Given the description of an element on the screen output the (x, y) to click on. 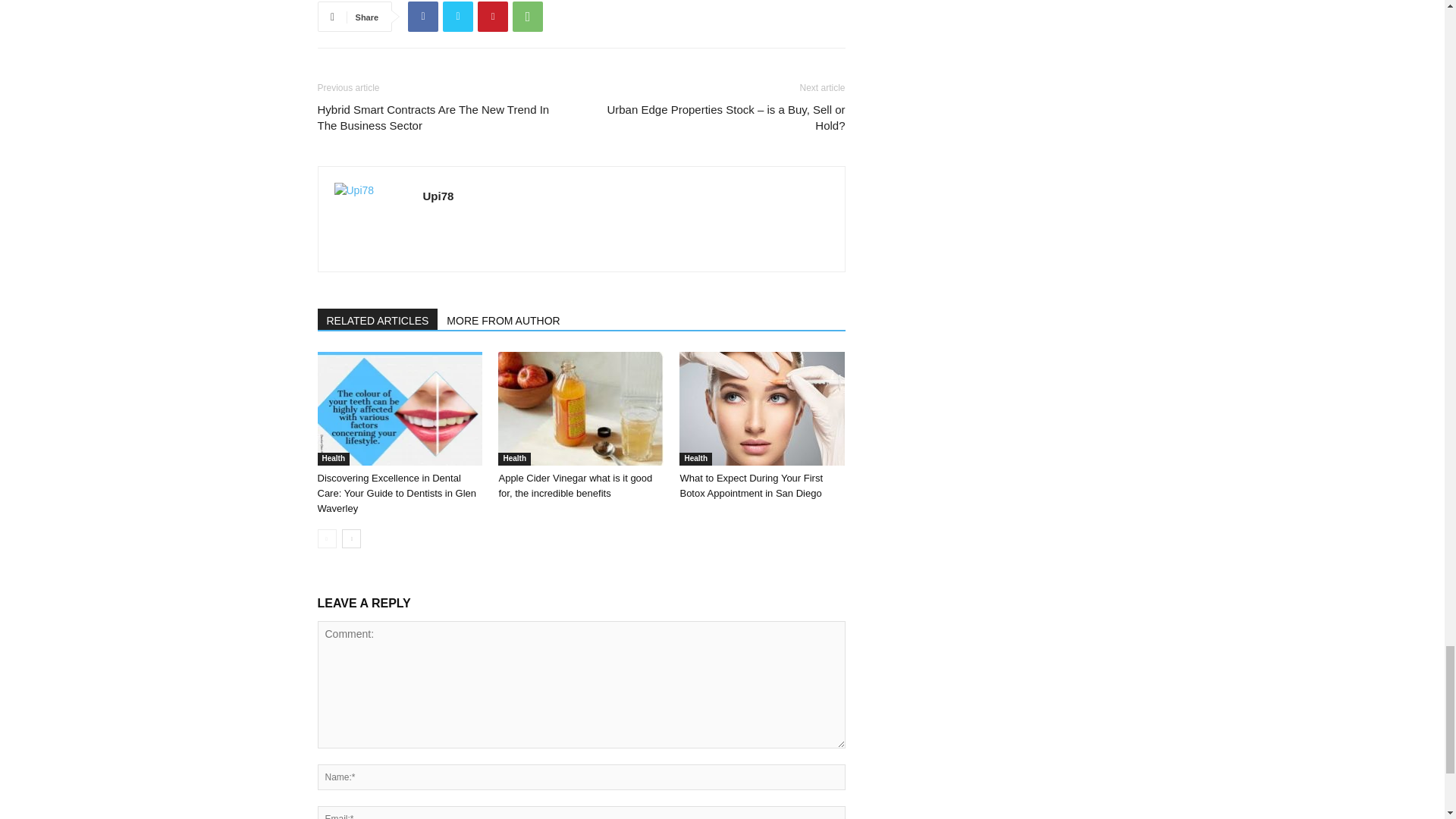
Facebook (422, 16)
Pinterest (492, 16)
Twitter (457, 16)
